Given the description of an element on the screen output the (x, y) to click on. 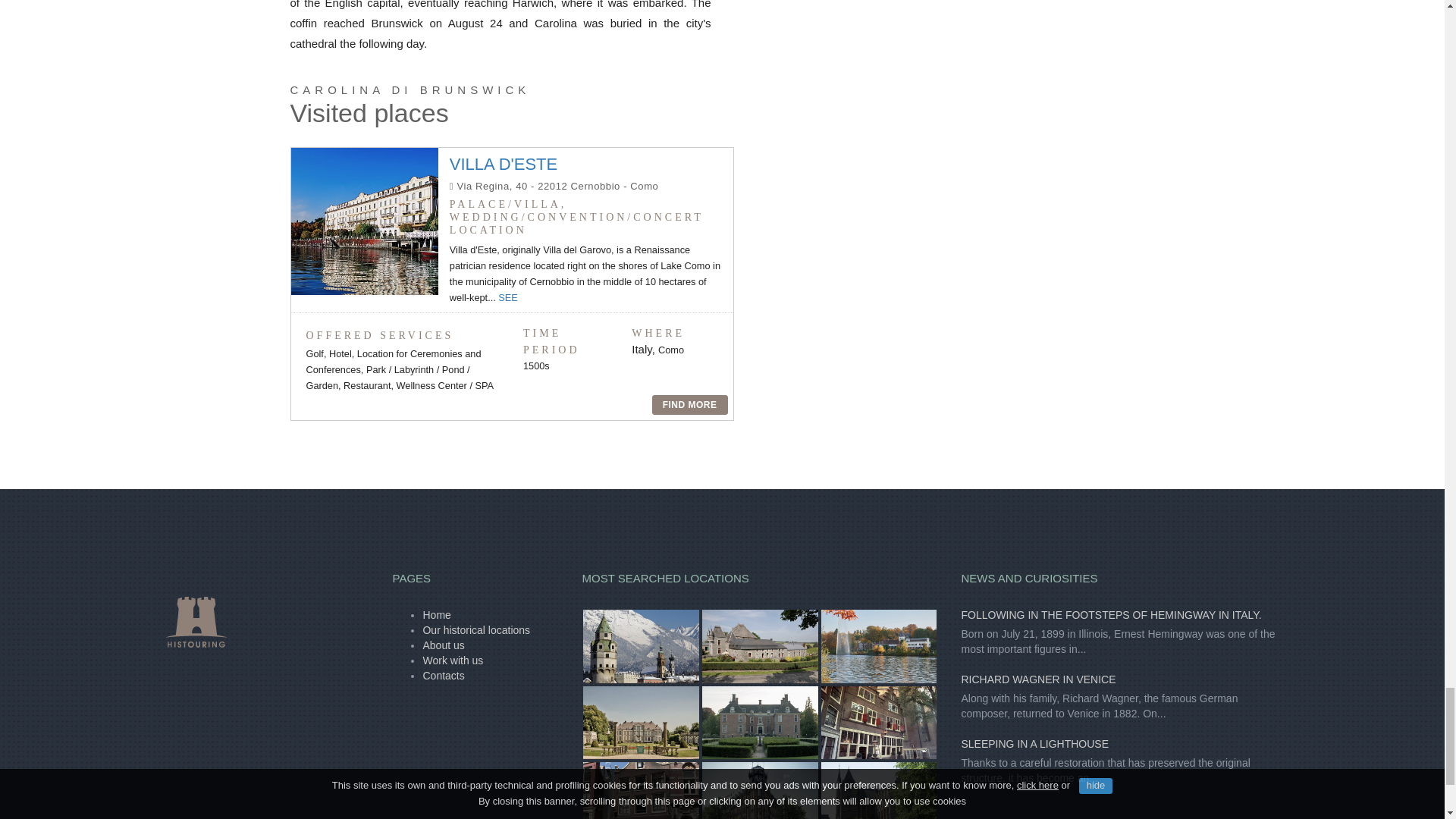
RICHARD WAGNER IN VENICE (1037, 679)
SEE (507, 297)
FOLLOWING IN THE FOOTSTEPS OF HEMINGWAY IN ITALY. (1110, 614)
SLEEPING IN A LIGHTHOUSE (1034, 743)
Work with us (452, 660)
Home (435, 614)
VILLA D'ESTE (503, 163)
About us (443, 645)
Our historical locations (475, 630)
Contacts (443, 675)
FIND MORE (690, 404)
